Given the description of an element on the screen output the (x, y) to click on. 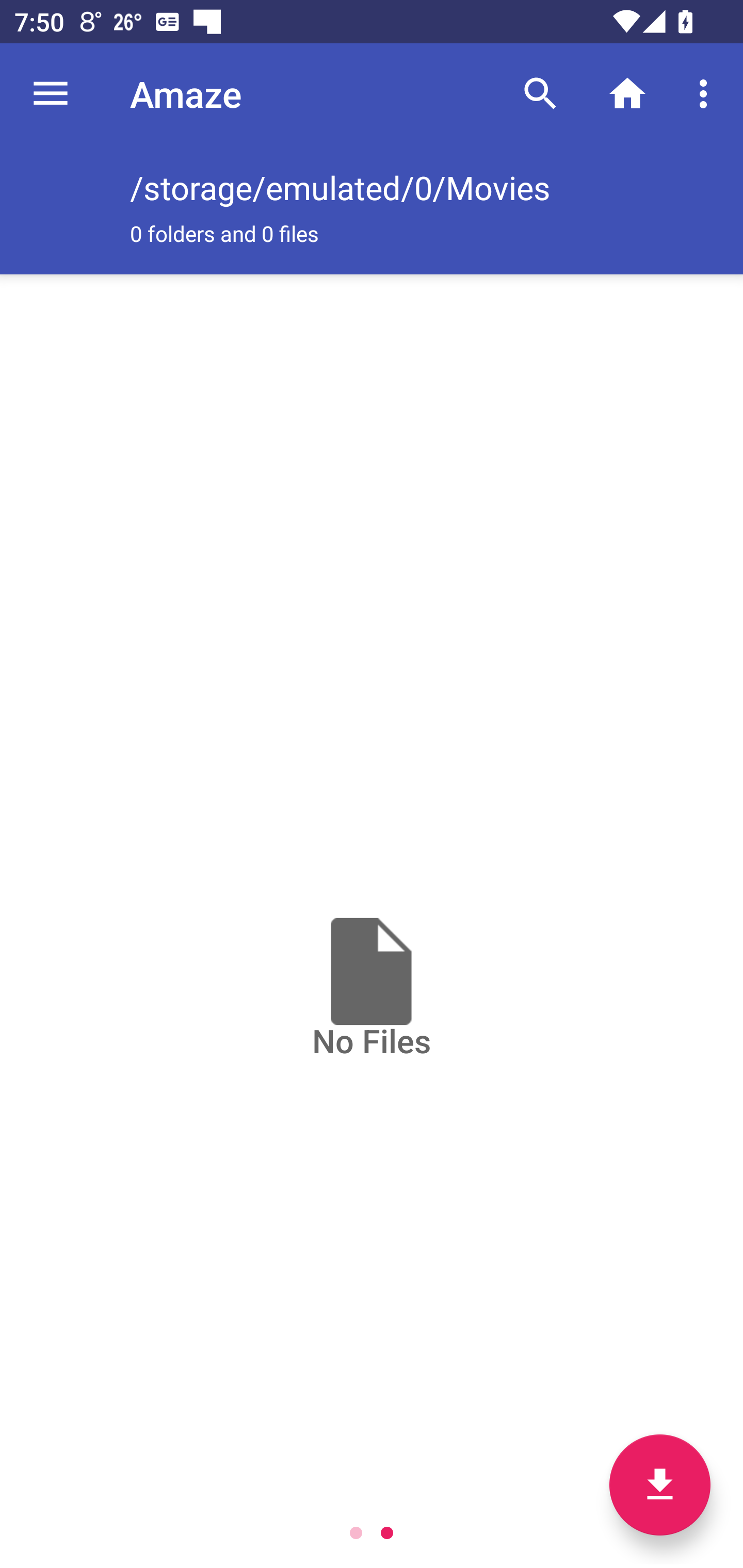
Navigate up (50, 93)
Search (540, 93)
Home (626, 93)
More options (706, 93)
